Given the description of an element on the screen output the (x, y) to click on. 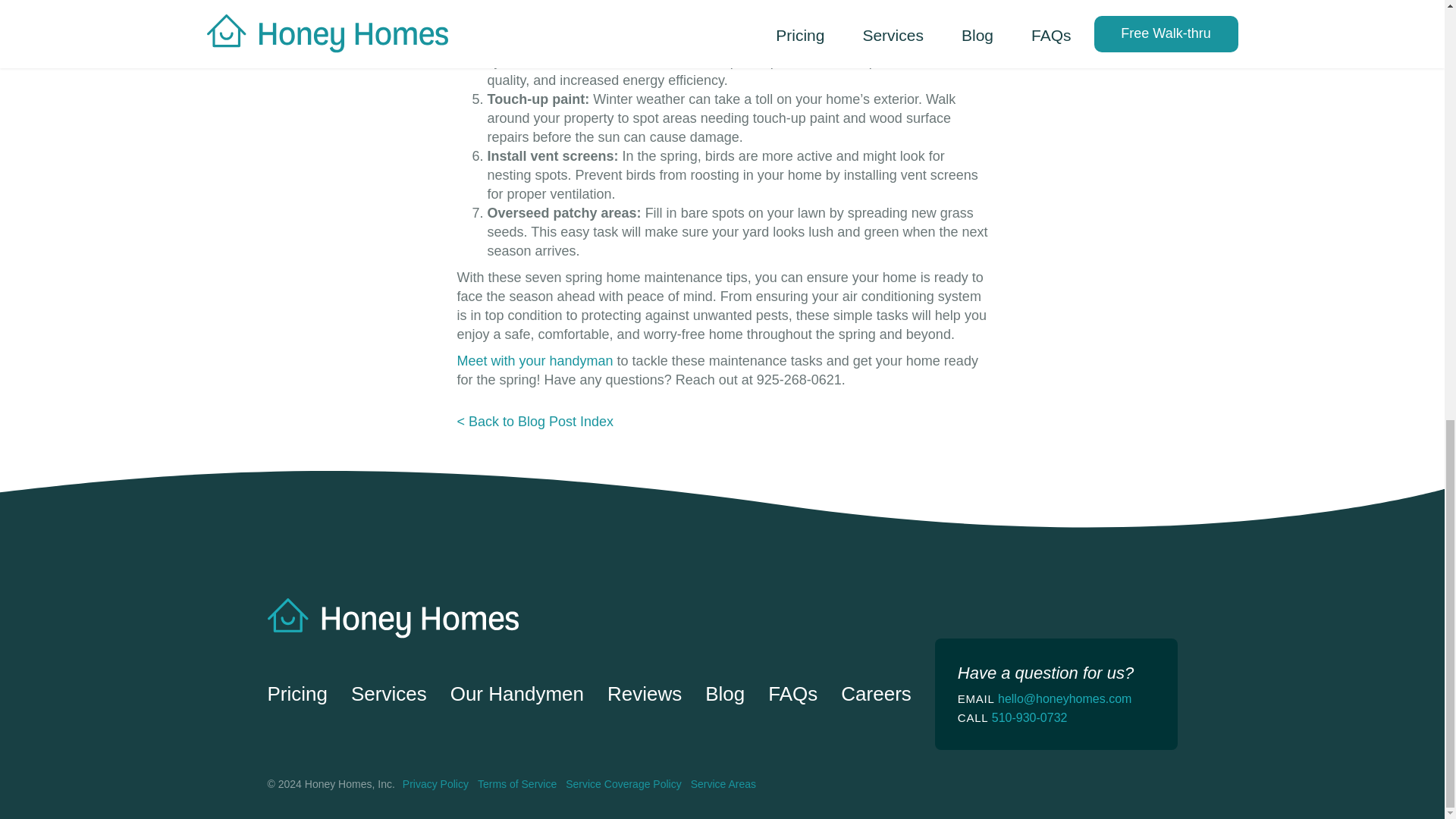
Meet with your handyman (534, 360)
Service Coverage Policy (623, 783)
Privacy Policy (435, 783)
Pricing (296, 693)
Service Areas (722, 783)
CALL 510-930-0732 (1056, 717)
Terms of Service (516, 783)
Our Handymen (516, 693)
Services (388, 693)
FAQs (792, 693)
Blog (724, 693)
Reviews (644, 693)
Careers (876, 693)
